Given the description of an element on the screen output the (x, y) to click on. 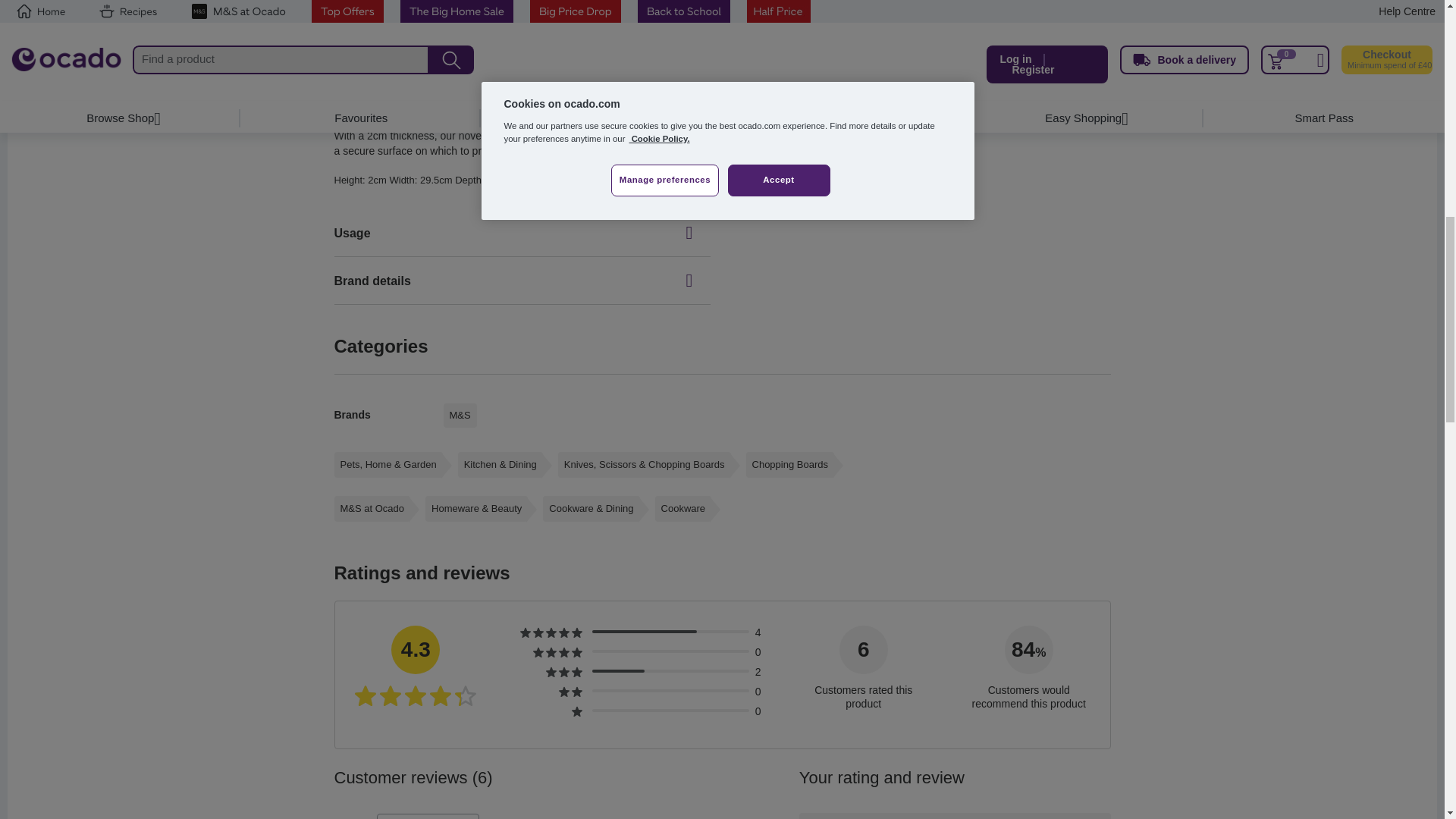
1 star reviews (576, 711)
2 star reviews (569, 692)
4 star reviews (556, 653)
5 star reviews (550, 633)
Brand details (521, 280)
Reviews 3.3 of 5 (643, 631)
Usage (521, 232)
3 star reviews (563, 672)
Reviews 1.7 of 5 (617, 670)
